Given the description of an element on the screen output the (x, y) to click on. 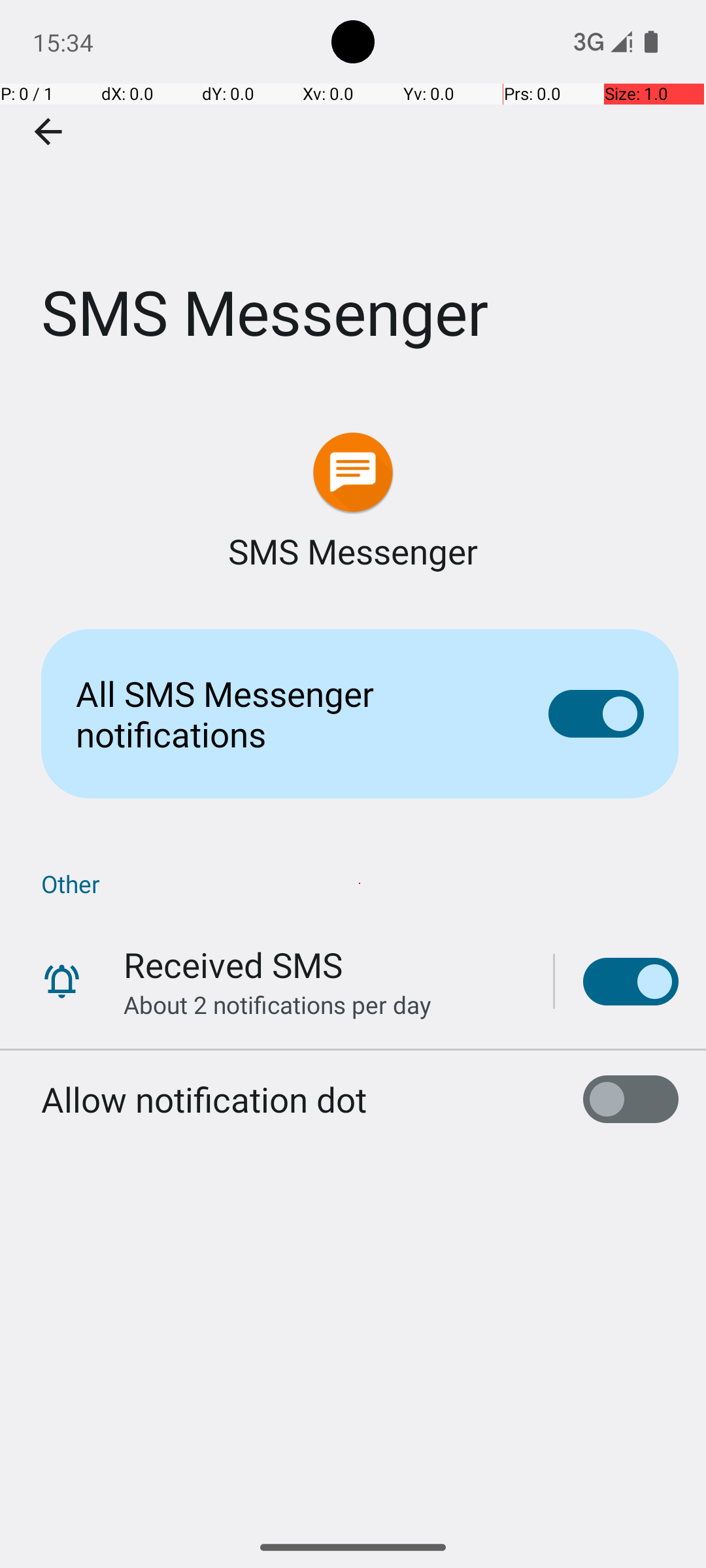
All SMS Messenger notifications Element type: android.widget.TextView (291, 713)
Received SMS Element type: android.widget.TextView (232, 964)
About 2 notifications per day Element type: android.widget.TextView (277, 1004)
Allow notification dot Element type: android.widget.TextView (203, 1099)
